Given the description of an element on the screen output the (x, y) to click on. 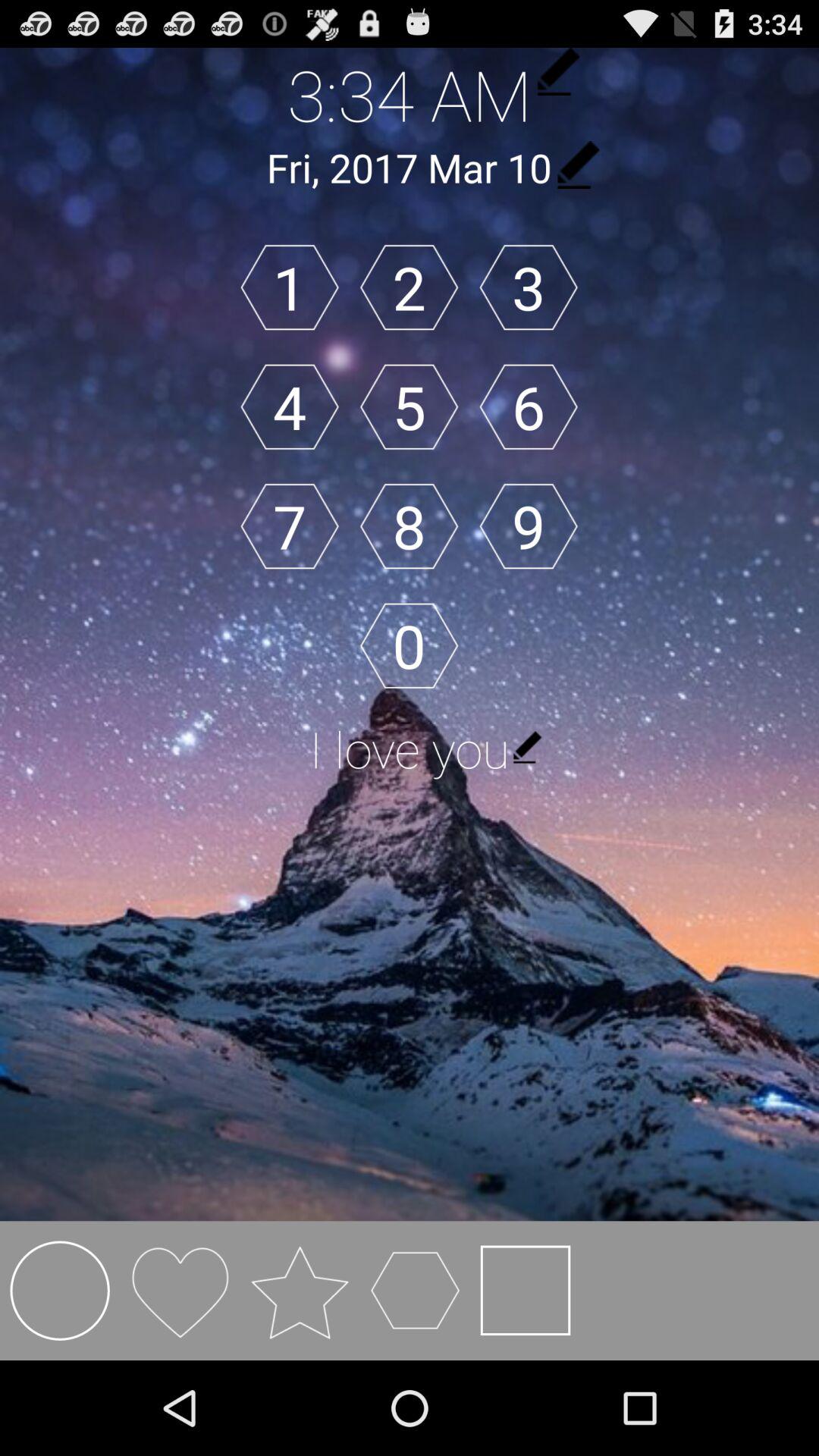
turn off button below 8 item (408, 645)
